Given the description of an element on the screen output the (x, y) to click on. 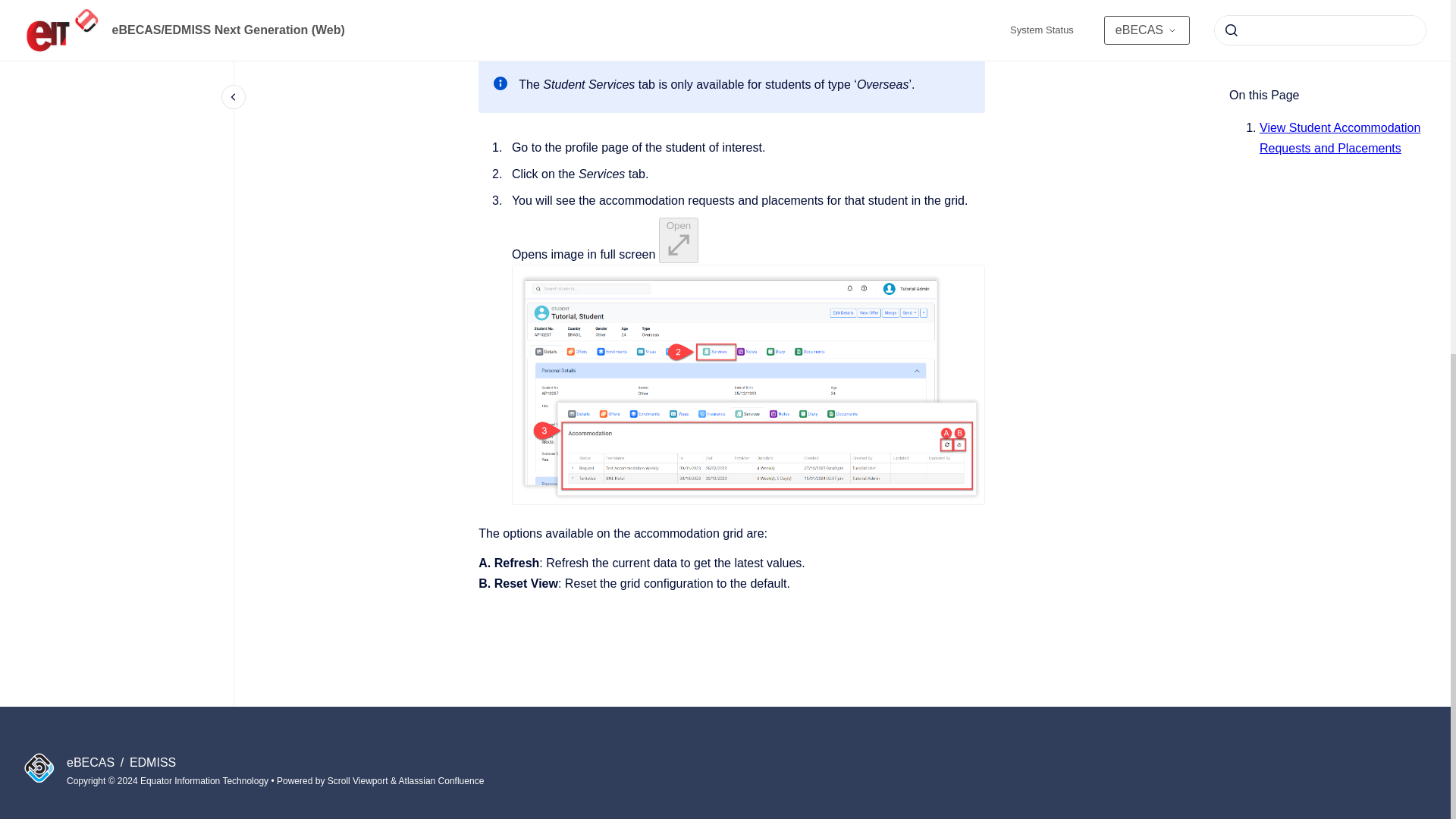
eBECAS (91, 762)
Scroll Viewport (358, 780)
EDMISS (152, 762)
Atlassian Confluence (441, 780)
